Given the description of an element on the screen output the (x, y) to click on. 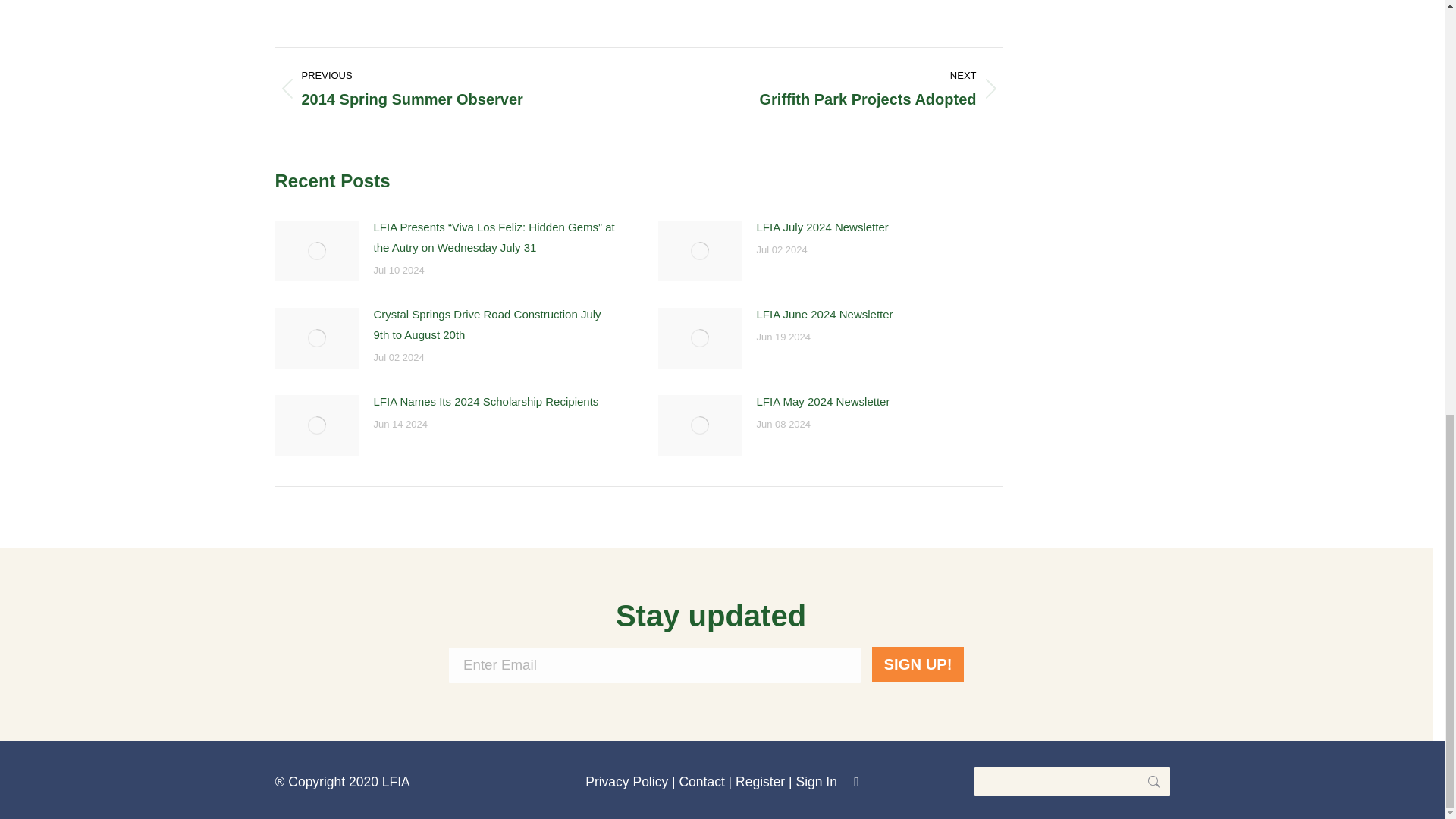
Go! (1146, 781)
Go! (1146, 781)
SIGN UP! (917, 664)
